Given the description of an element on the screen output the (x, y) to click on. 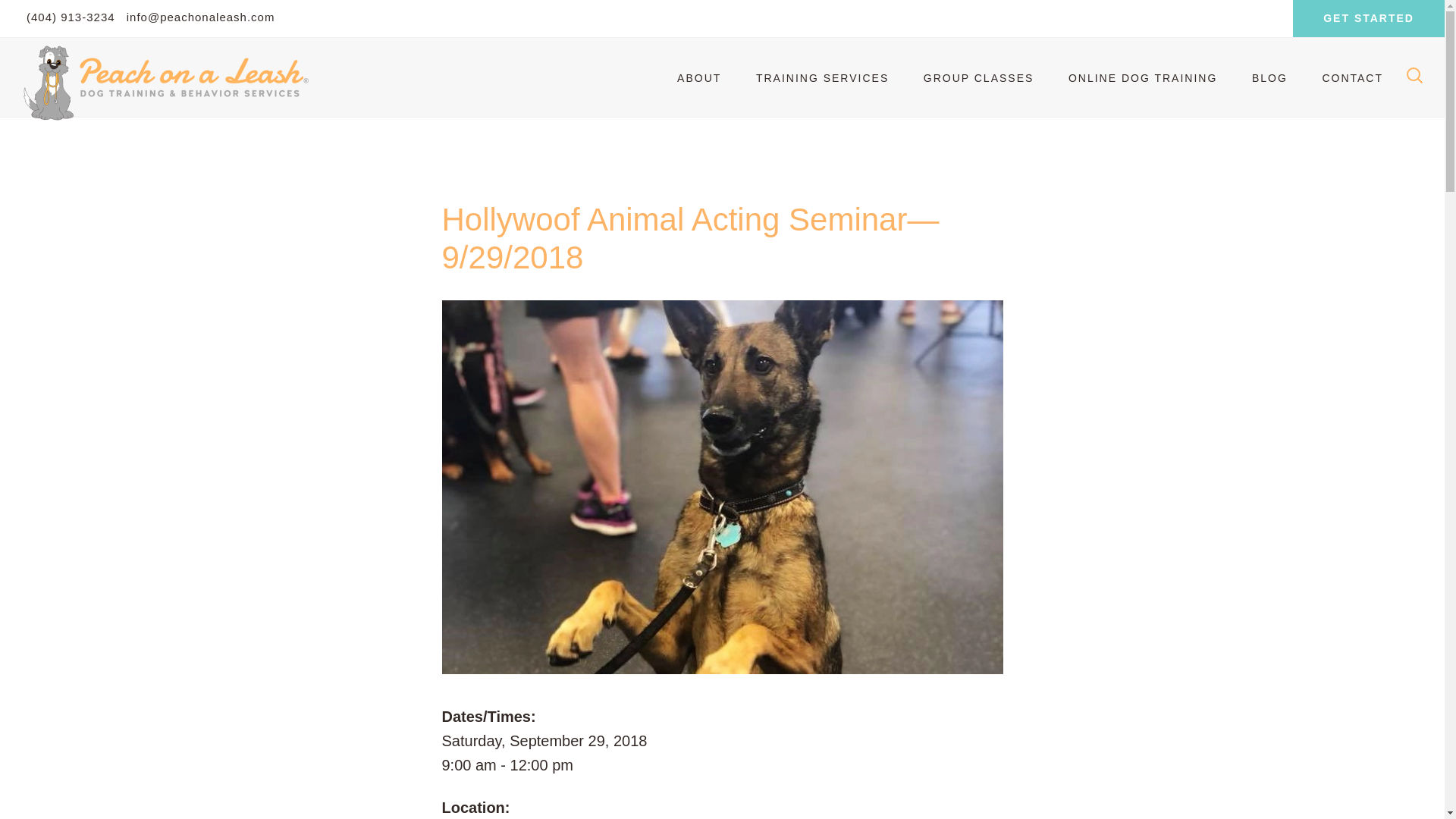
CONTACT (1351, 78)
ABOUT (699, 78)
GROUP CLASSES (978, 78)
BLOG (1269, 78)
TRAINING SERVICES (822, 78)
Search (57, 18)
ONLINE DOG TRAINING (1141, 78)
